Given the description of an element on the screen output the (x, y) to click on. 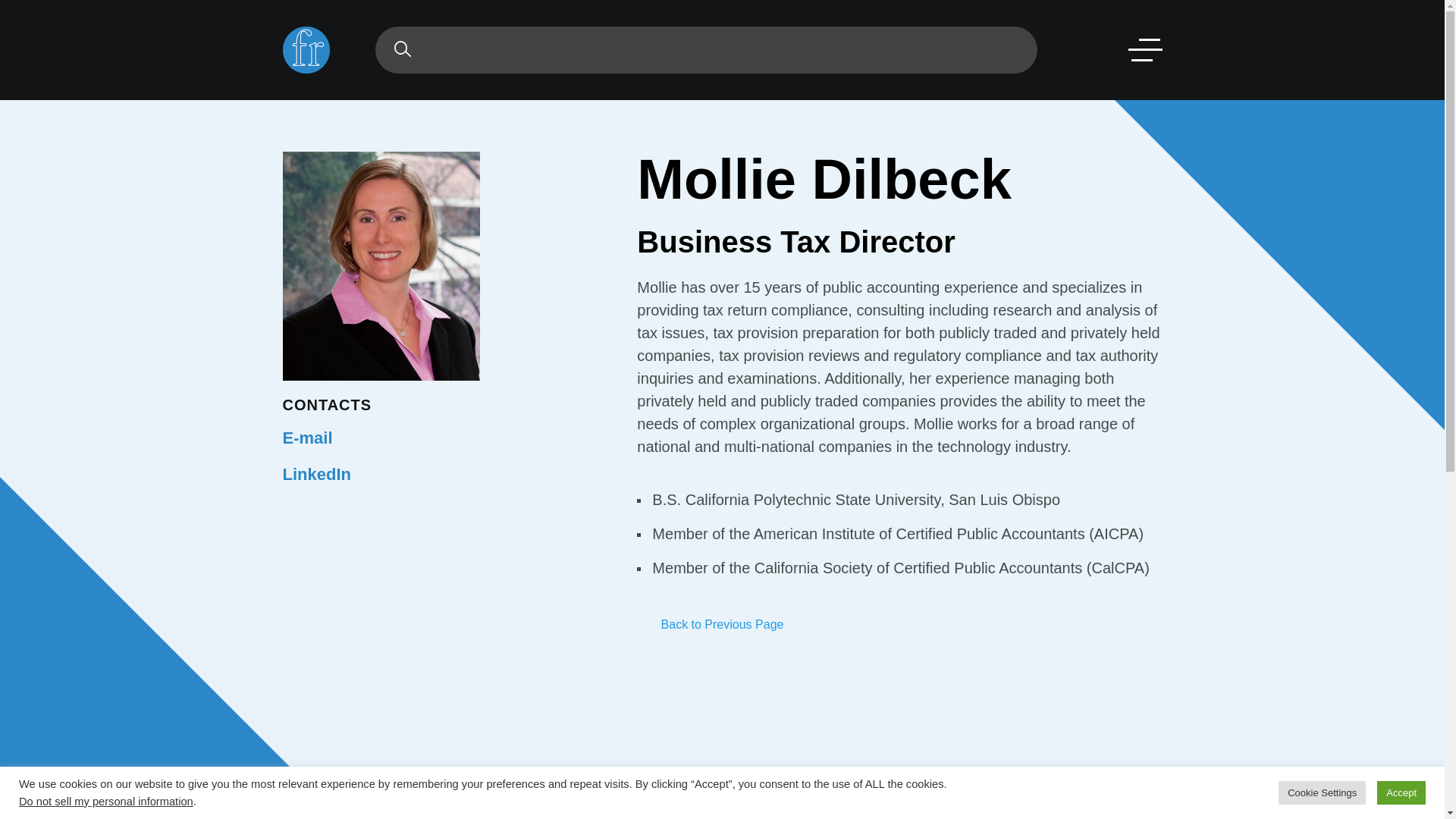
Accept (1401, 792)
E-mail (306, 437)
Back to Previous Page (722, 624)
Do not sell my personal information (105, 801)
Cookie Settings (1321, 792)
LinkedIn (316, 474)
